Given the description of an element on the screen output the (x, y) to click on. 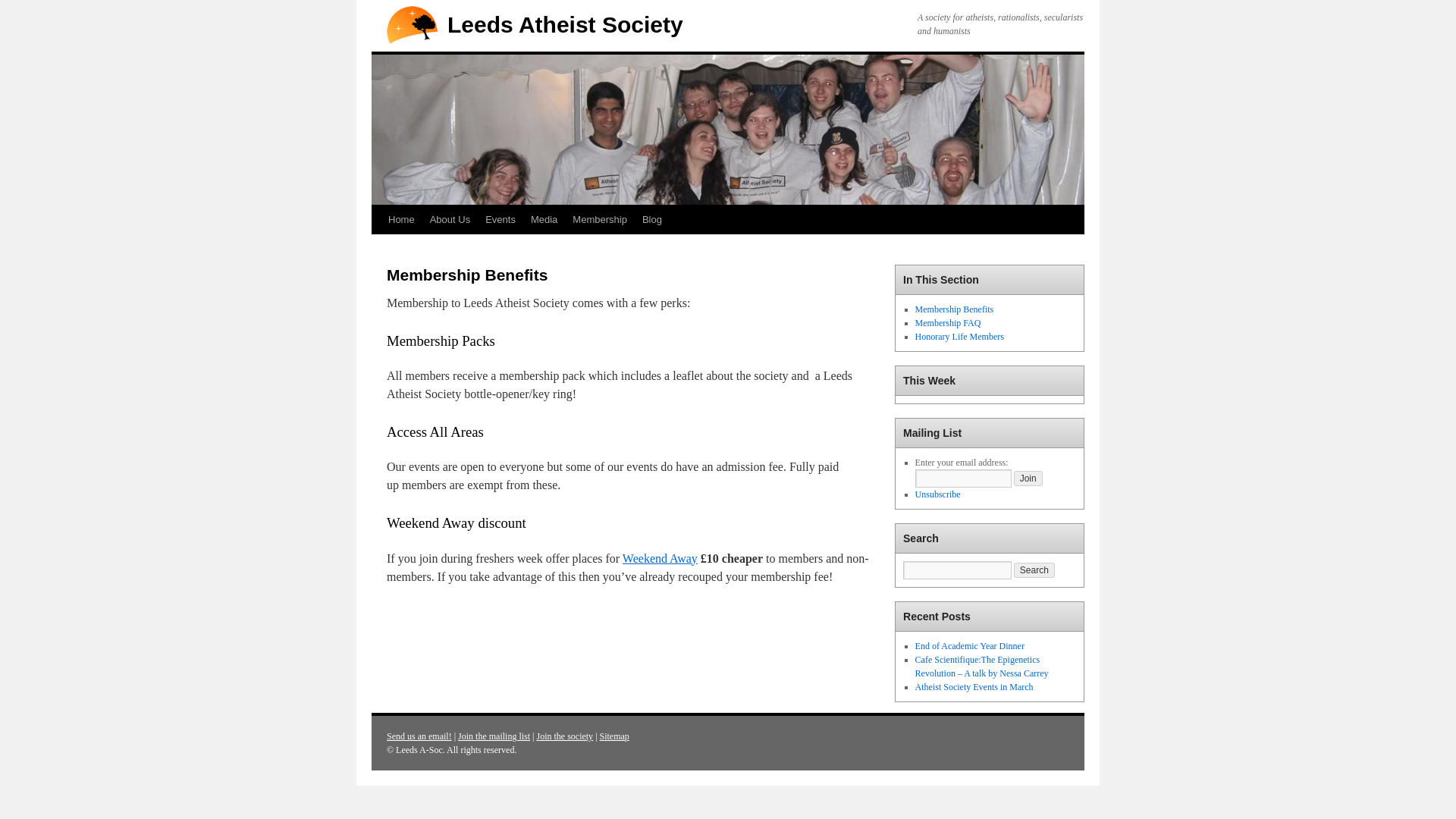
Media (543, 219)
Membership (599, 219)
Membership Benefits (954, 308)
Join (1027, 478)
Search (1033, 570)
Search (1033, 570)
Membership FAQ (948, 322)
Weekend Away (660, 558)
About Us (449, 219)
Unsubscribe (937, 493)
Honorary Life Members (959, 336)
Leeds Atheist Society (564, 24)
Blog (651, 219)
Join (1027, 478)
Leeds Atheist Society (564, 24)
